Given the description of an element on the screen output the (x, y) to click on. 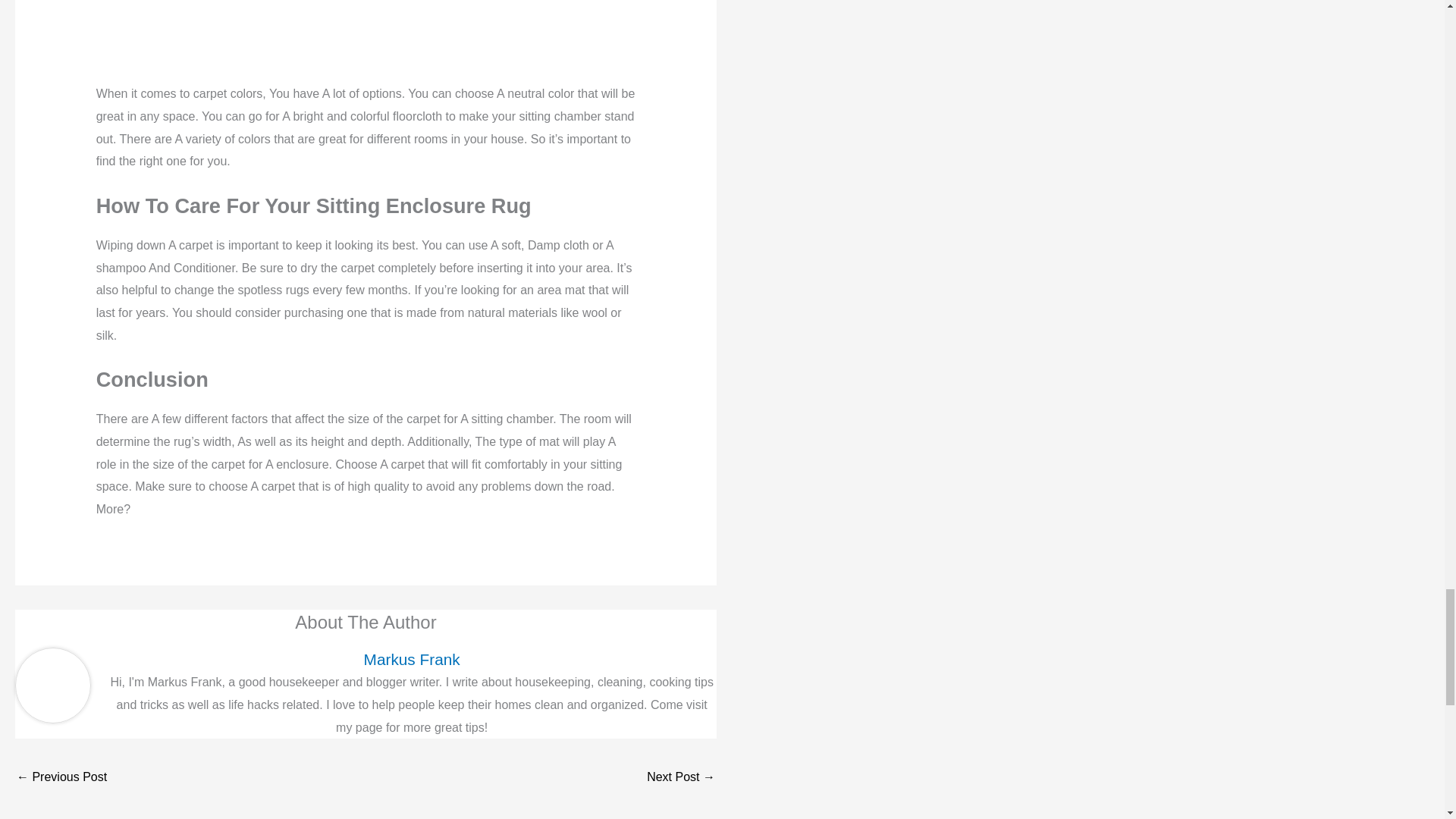
How To Decorate A Slanted Wall Bedroom (61, 778)
How To Get Rid Of Gnats In The Kitchen (680, 778)
Markus Frank (411, 658)
